Given the description of an element on the screen output the (x, y) to click on. 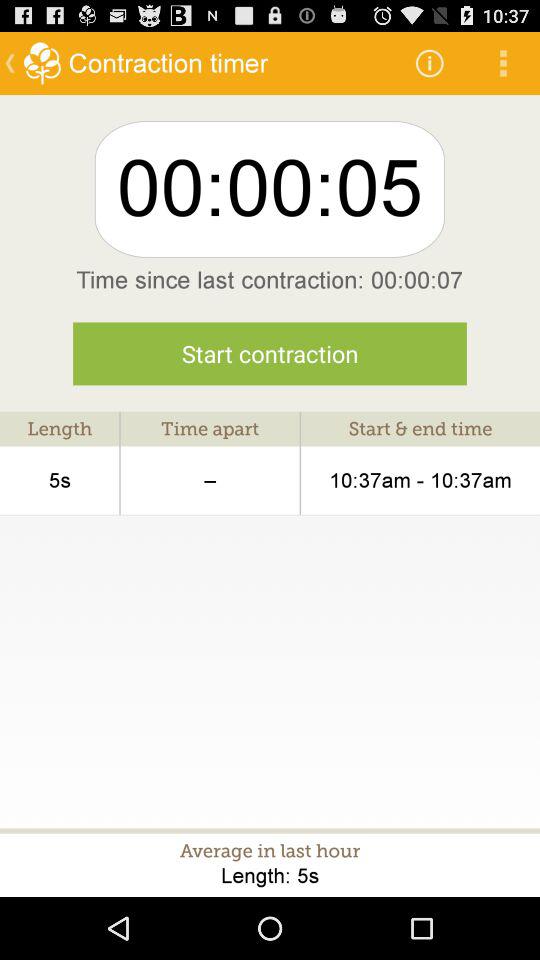
select the icon to the right of the time apart (420, 480)
